Given the description of an element on the screen output the (x, y) to click on. 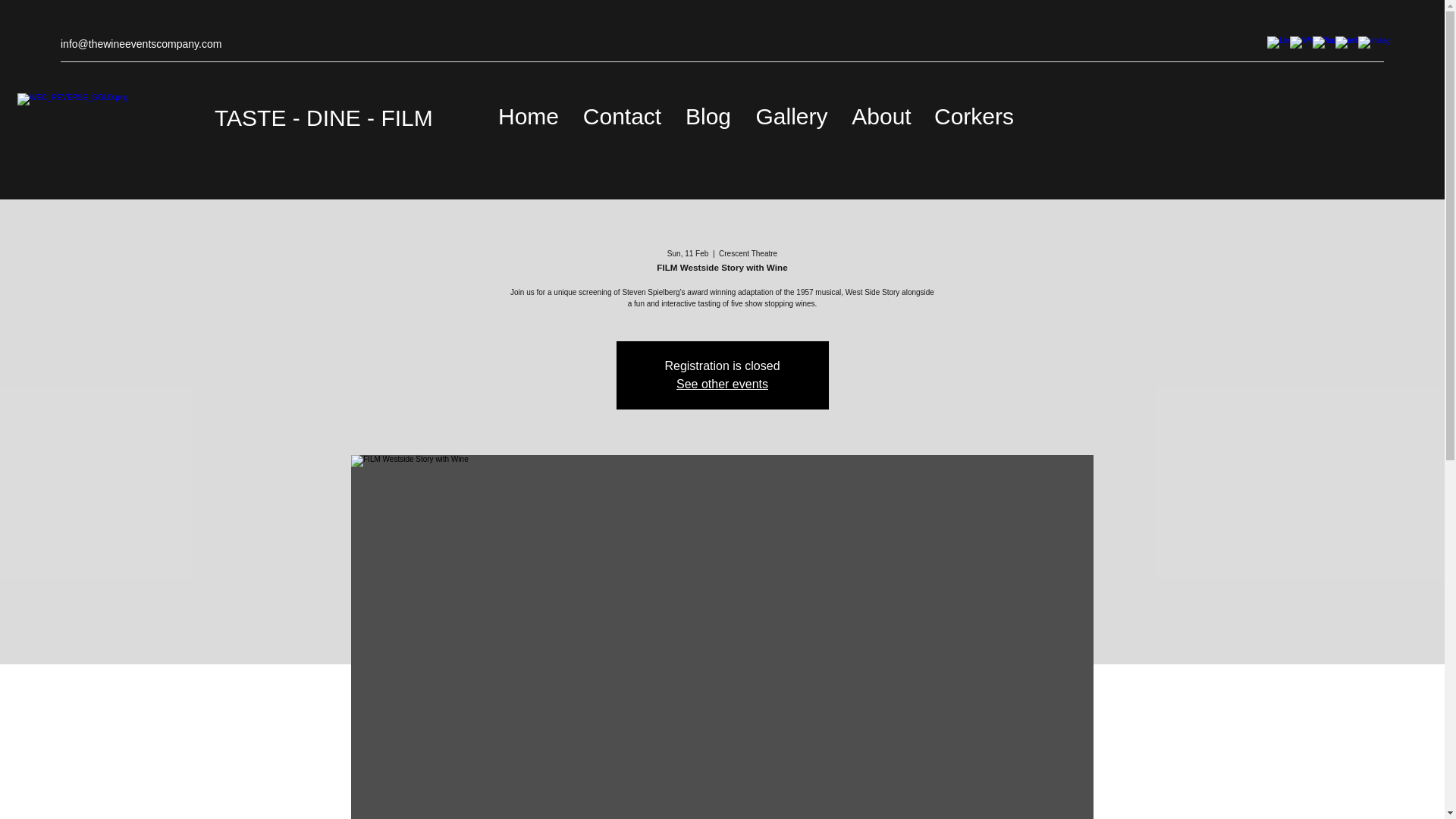
Gallery (791, 116)
Blog (707, 116)
Corkers (974, 116)
See other events (722, 383)
About (881, 116)
Contact (621, 116)
Home (528, 116)
